Given the description of an element on the screen output the (x, y) to click on. 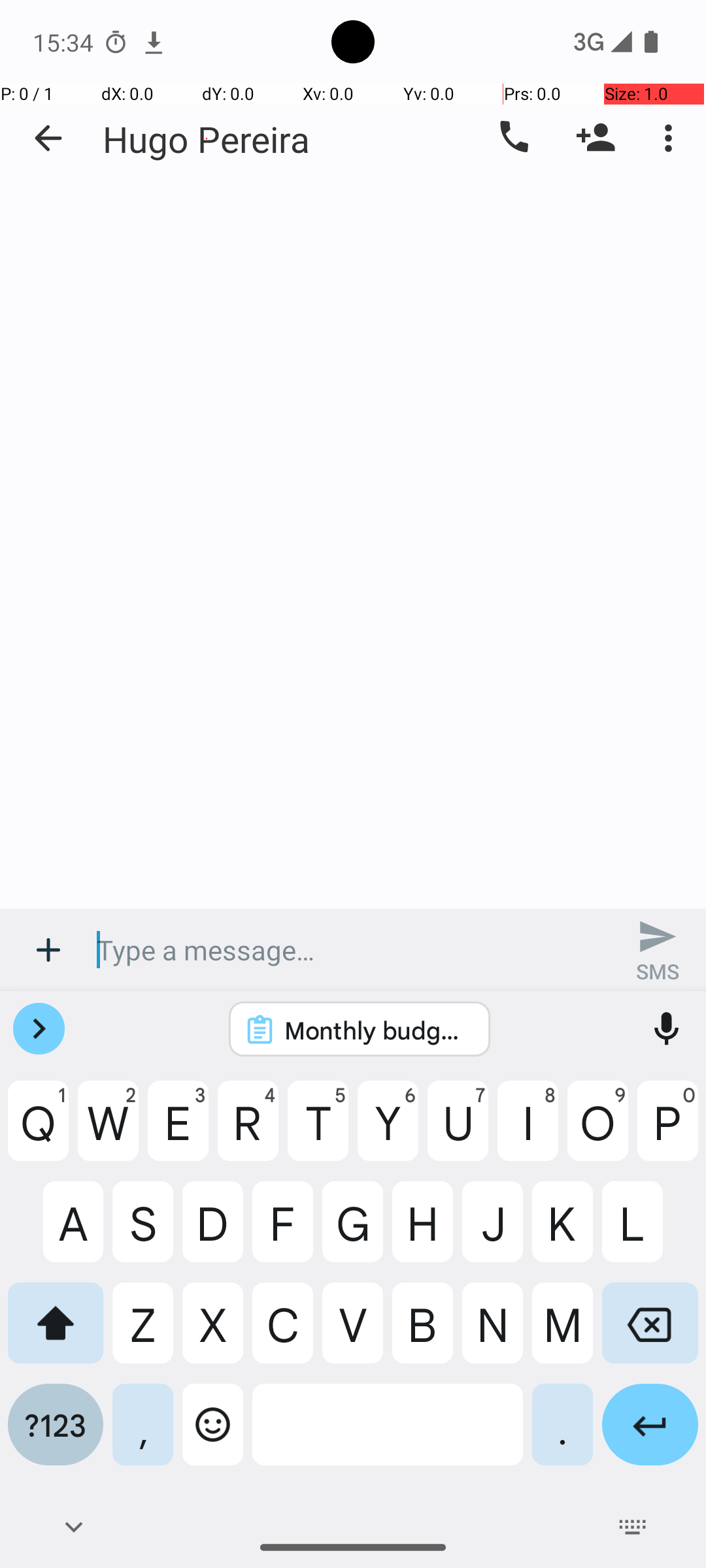
Monthly budget meeting pushed to Friday. Element type: android.widget.TextView (376, 1029)
